Given the description of an element on the screen output the (x, y) to click on. 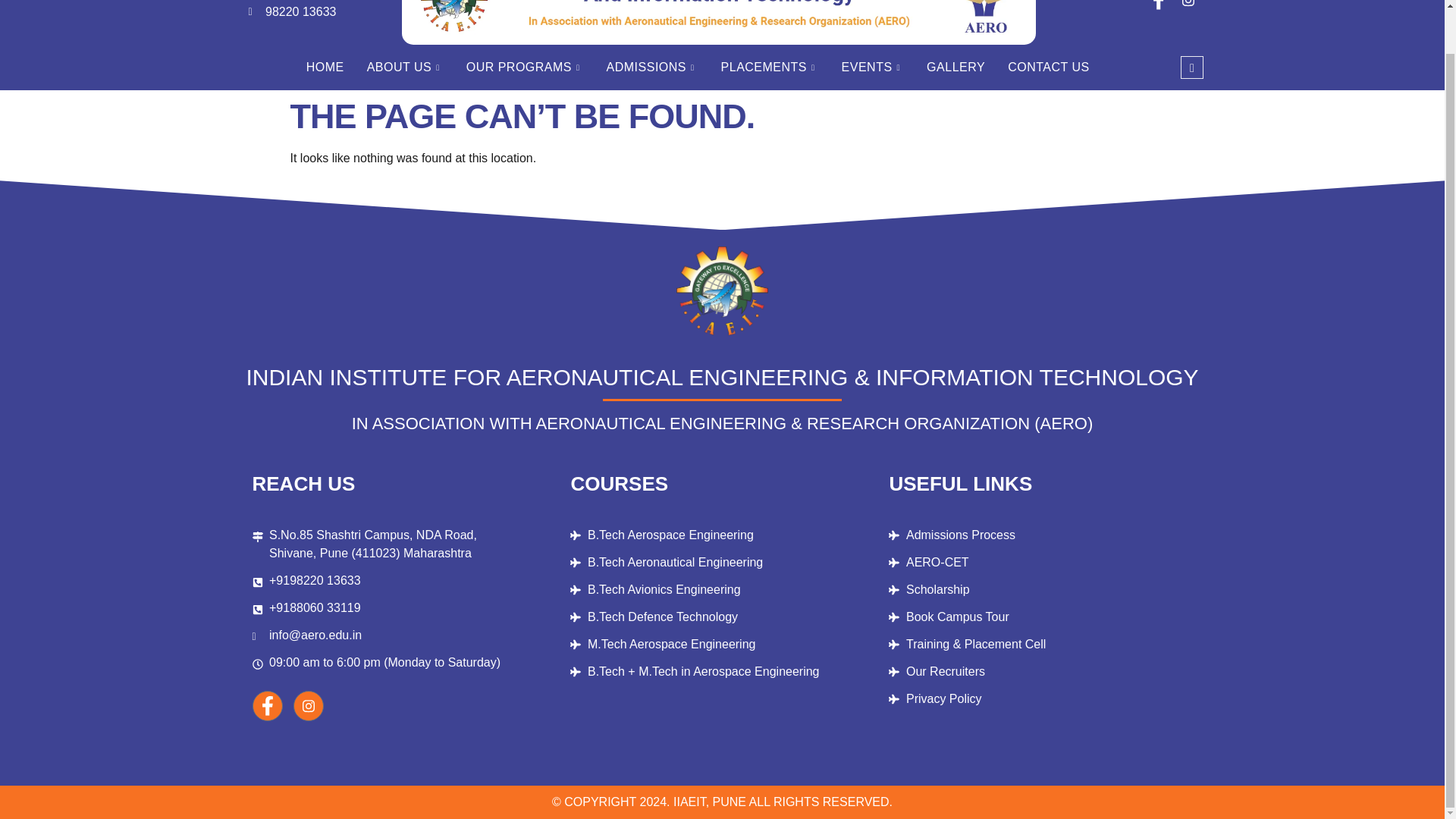
OUR PROGRAMS (524, 67)
98220 13633 (319, 12)
GALLERY (955, 67)
CONTACT US (1047, 67)
EVENTS (872, 67)
HOME (325, 67)
ABOUT US (404, 67)
PLACEMENTS (769, 67)
ADMISSIONS (652, 67)
